Given the description of an element on the screen output the (x, y) to click on. 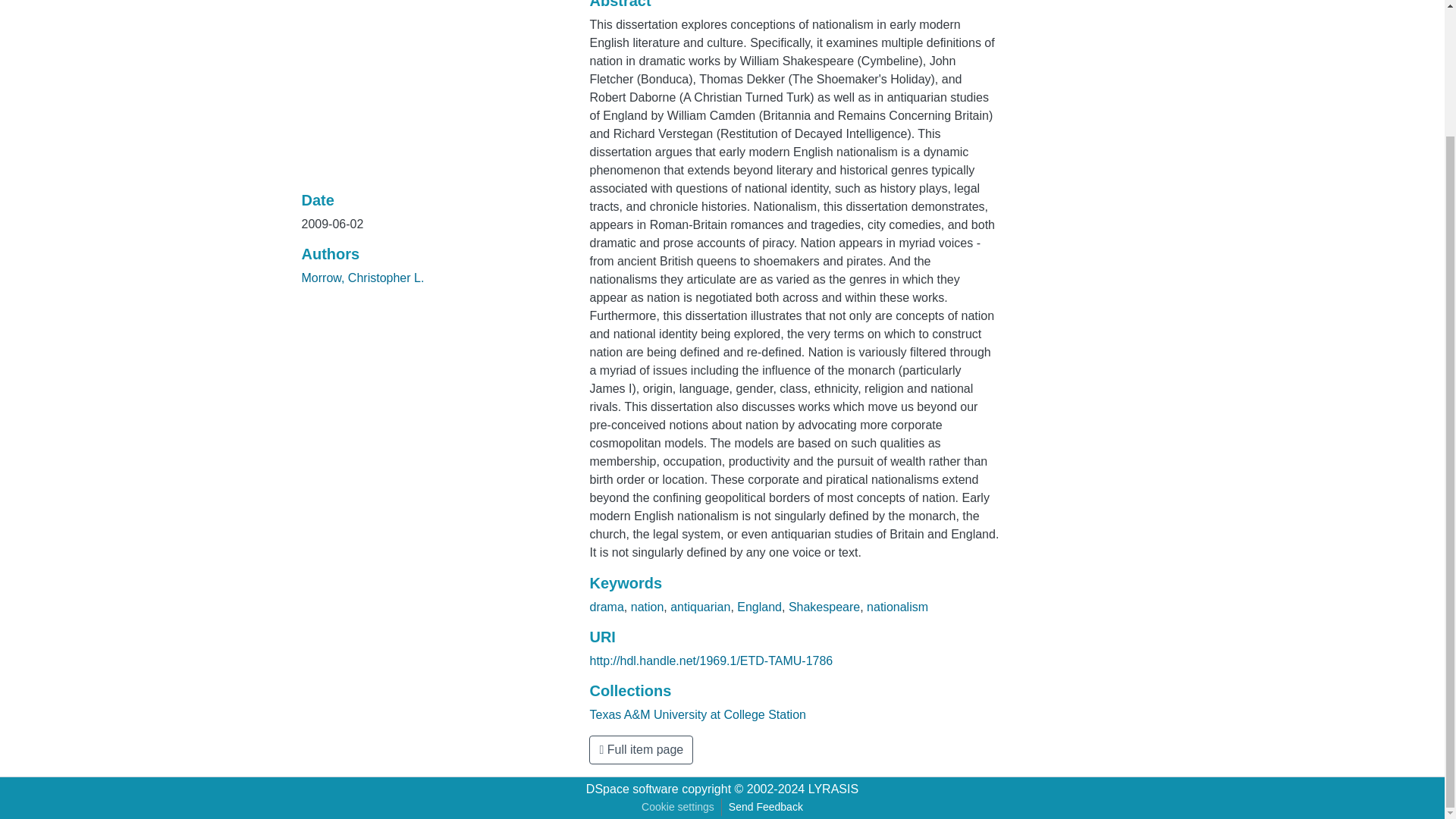
nationalism (897, 606)
LYRASIS (833, 788)
antiquarian (699, 606)
Full item page (641, 749)
Send Feedback (765, 806)
Shakespeare (824, 606)
Morrow, Christopher L. (363, 277)
England (758, 606)
nation (646, 606)
DSpace software (632, 788)
